Given the description of an element on the screen output the (x, y) to click on. 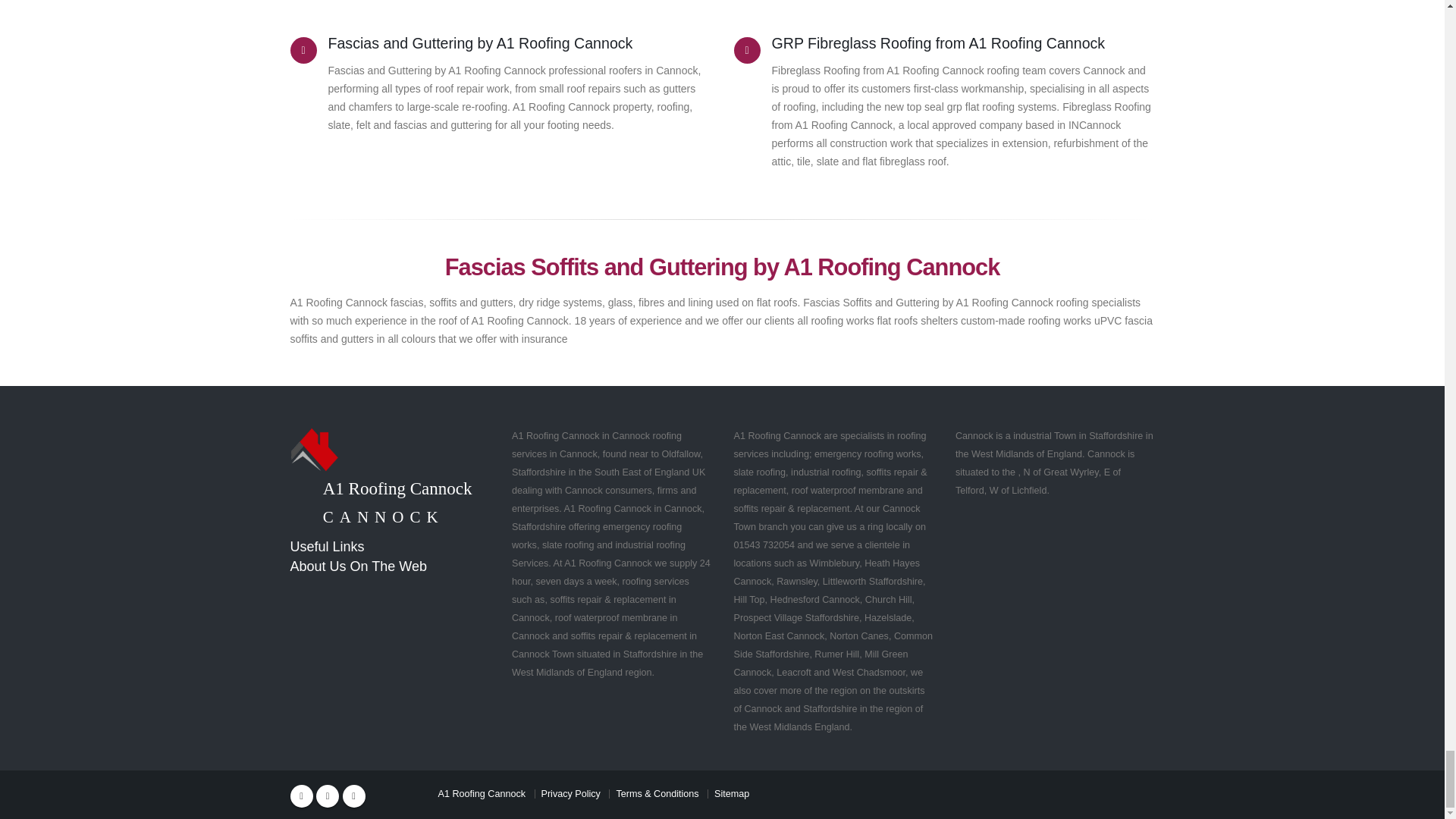
Facebook (301, 795)
Twitter (327, 795)
Linkedin (353, 795)
